Given the description of an element on the screen output the (x, y) to click on. 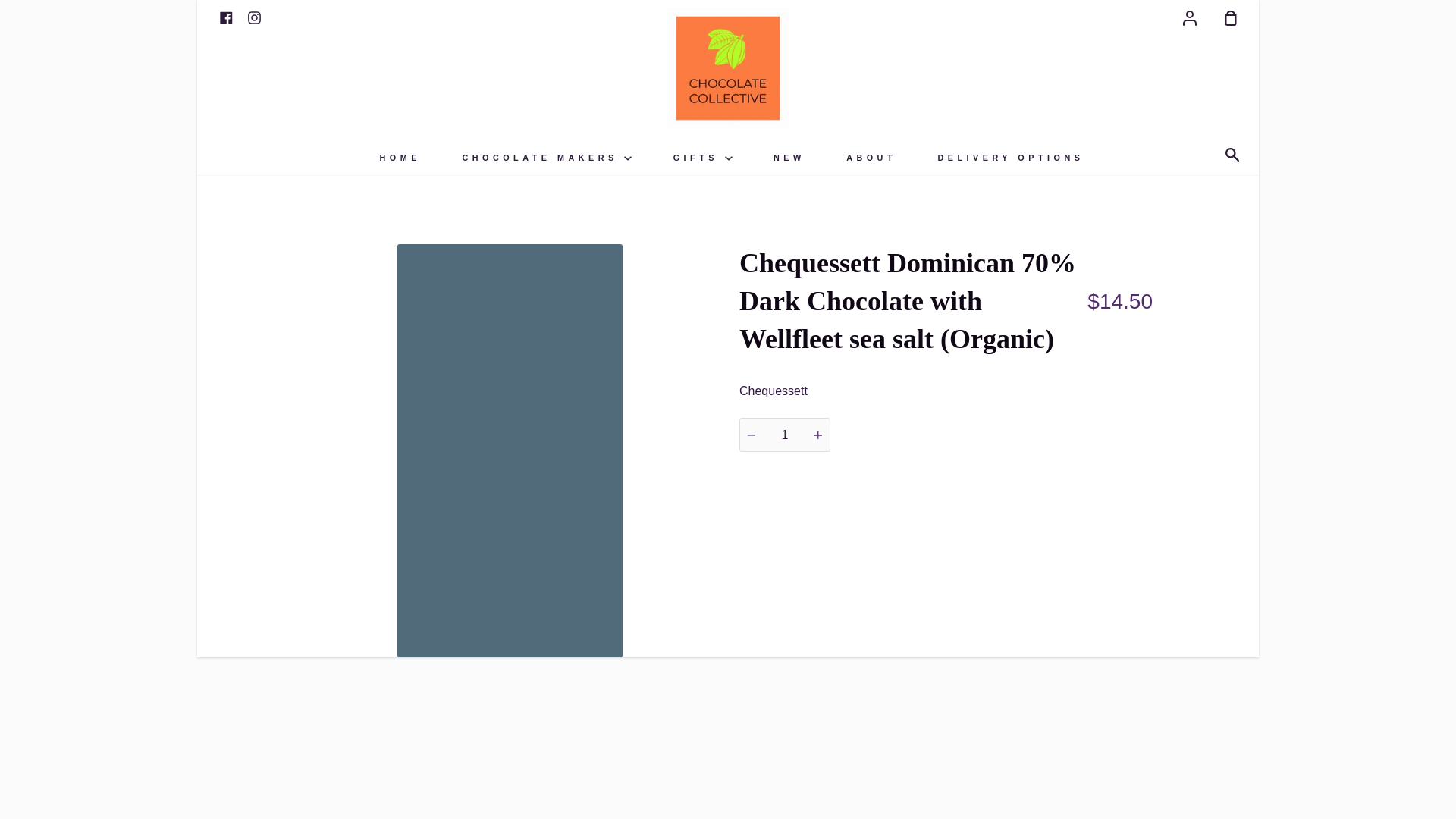
1 (784, 434)
Chocolate Collective Canada on Instagram (253, 16)
CHOCOLATE MAKERS (546, 157)
HOME (400, 157)
Chocolate Collective Canada on Facebook (225, 16)
Instagram (253, 16)
Facebook (225, 16)
